Given the description of an element on the screen output the (x, y) to click on. 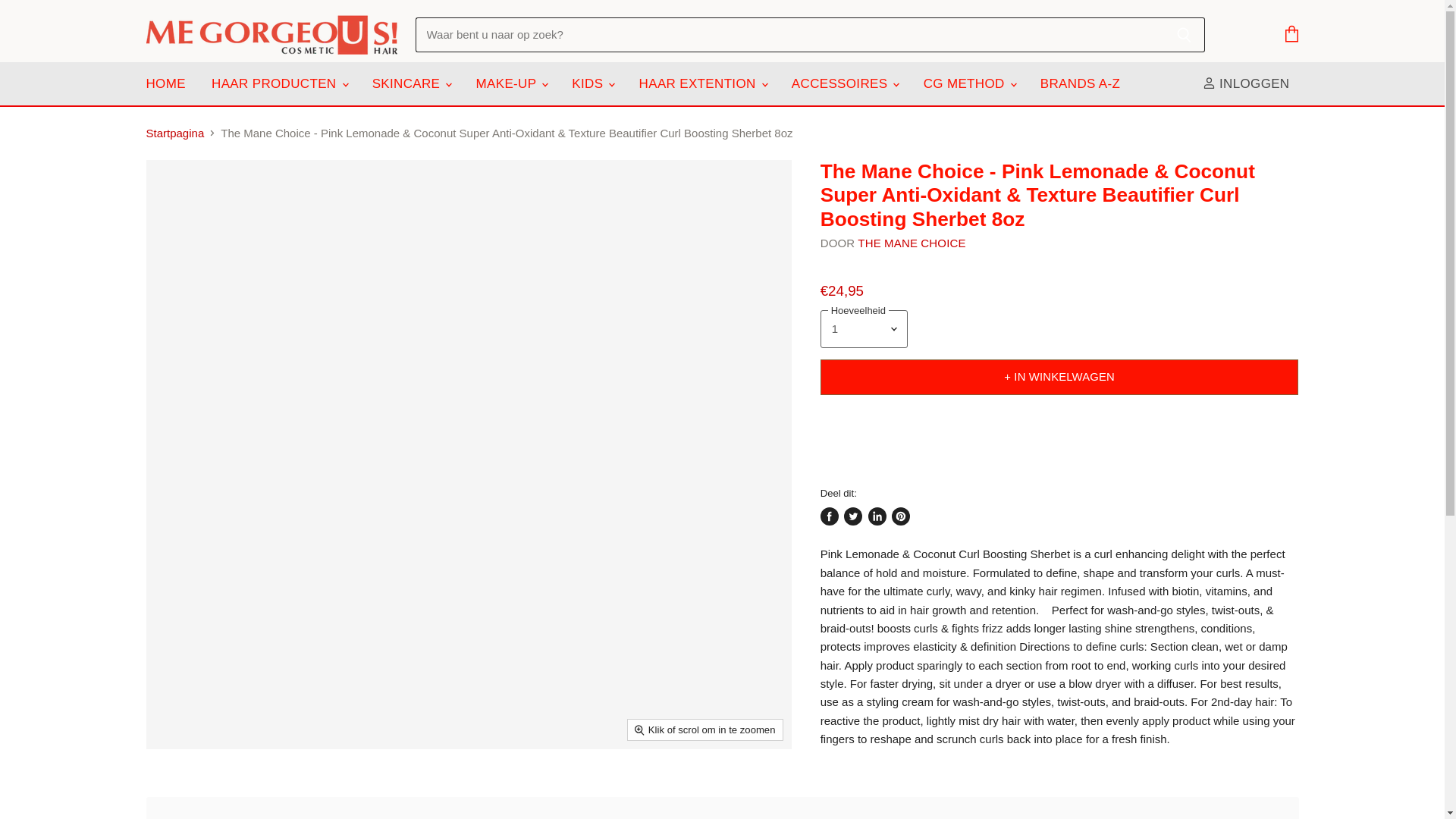
The Mane Choice (911, 242)
HOME (165, 83)
ACCOUNT ICOON (1208, 82)
HAAR PRODUCTEN (278, 83)
